Given the description of an element on the screen output the (x, y) to click on. 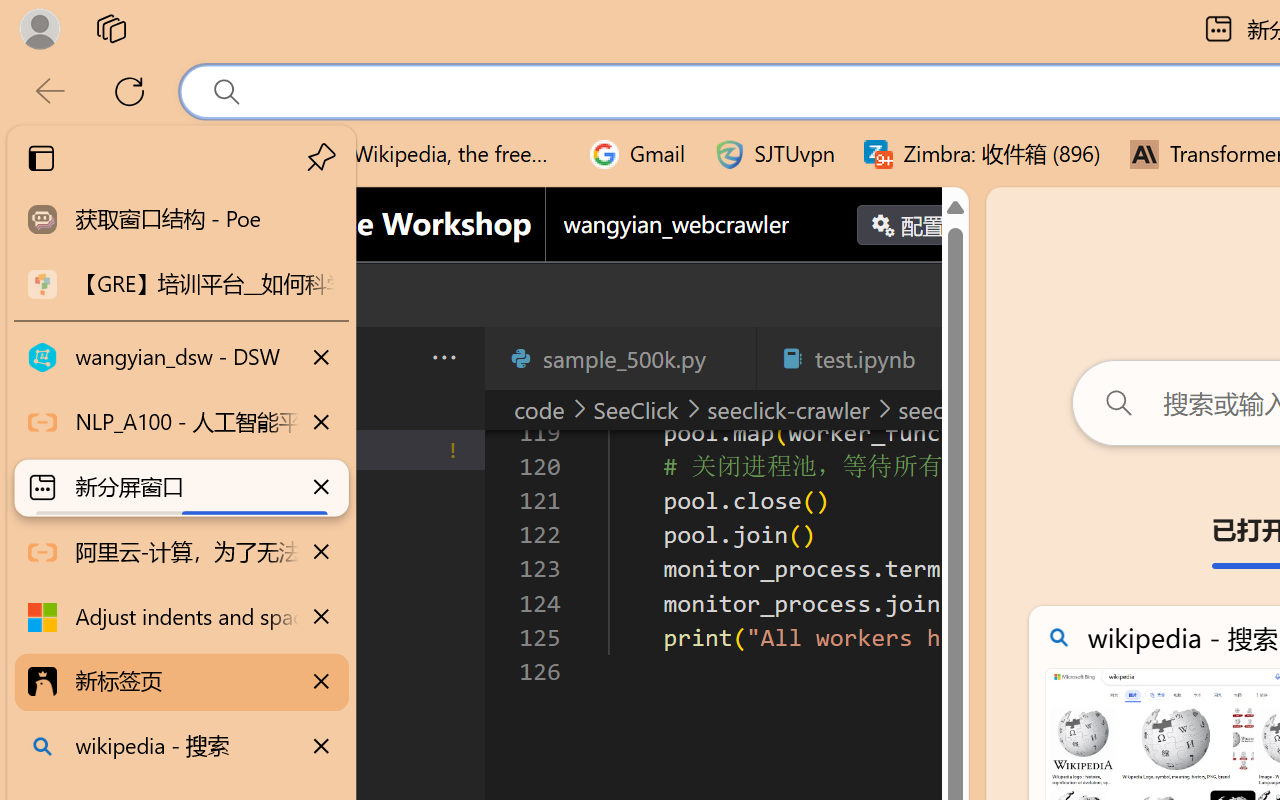
Explorer (Ctrl+Shift+E) (135, 432)
Class: menubar compact overflow-menu-only (135, 358)
Adjust indents and spacing - Microsoft Support (181, 617)
Explorer Section: wangyian (331, 409)
Wikipedia, the free encyclopedia (437, 154)
SJTUvpn (774, 154)
Close (Ctrl+F4) (946, 358)
Tab actions (945, 358)
